Given the description of an element on the screen output the (x, y) to click on. 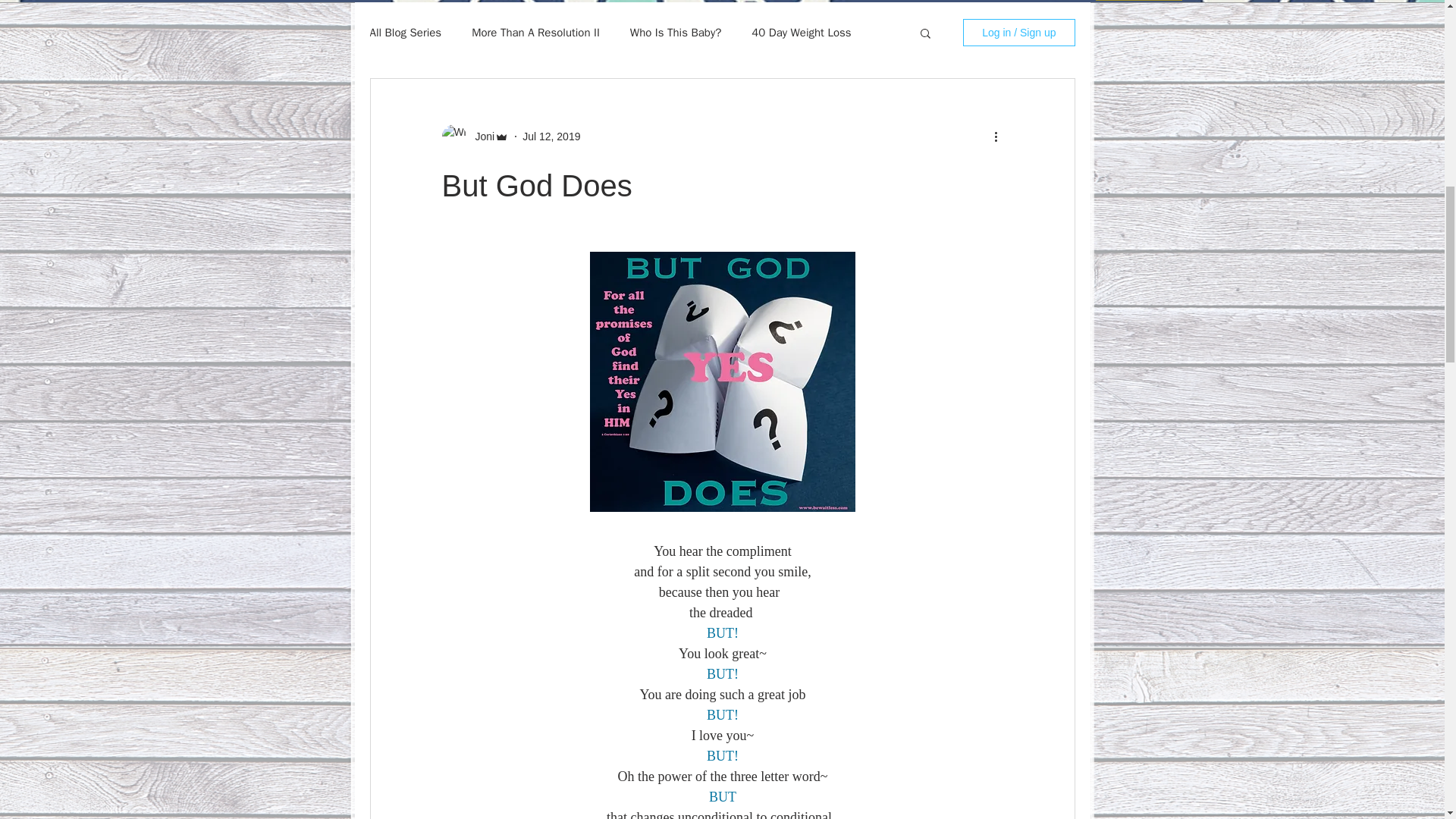
40 Day Weight Loss (800, 32)
Joni (480, 136)
Jul 12, 2019 (550, 136)
More Than A Resolution II (535, 32)
Who Is This Baby? (675, 32)
All Blog Series (405, 32)
